Given the description of an element on the screen output the (x, y) to click on. 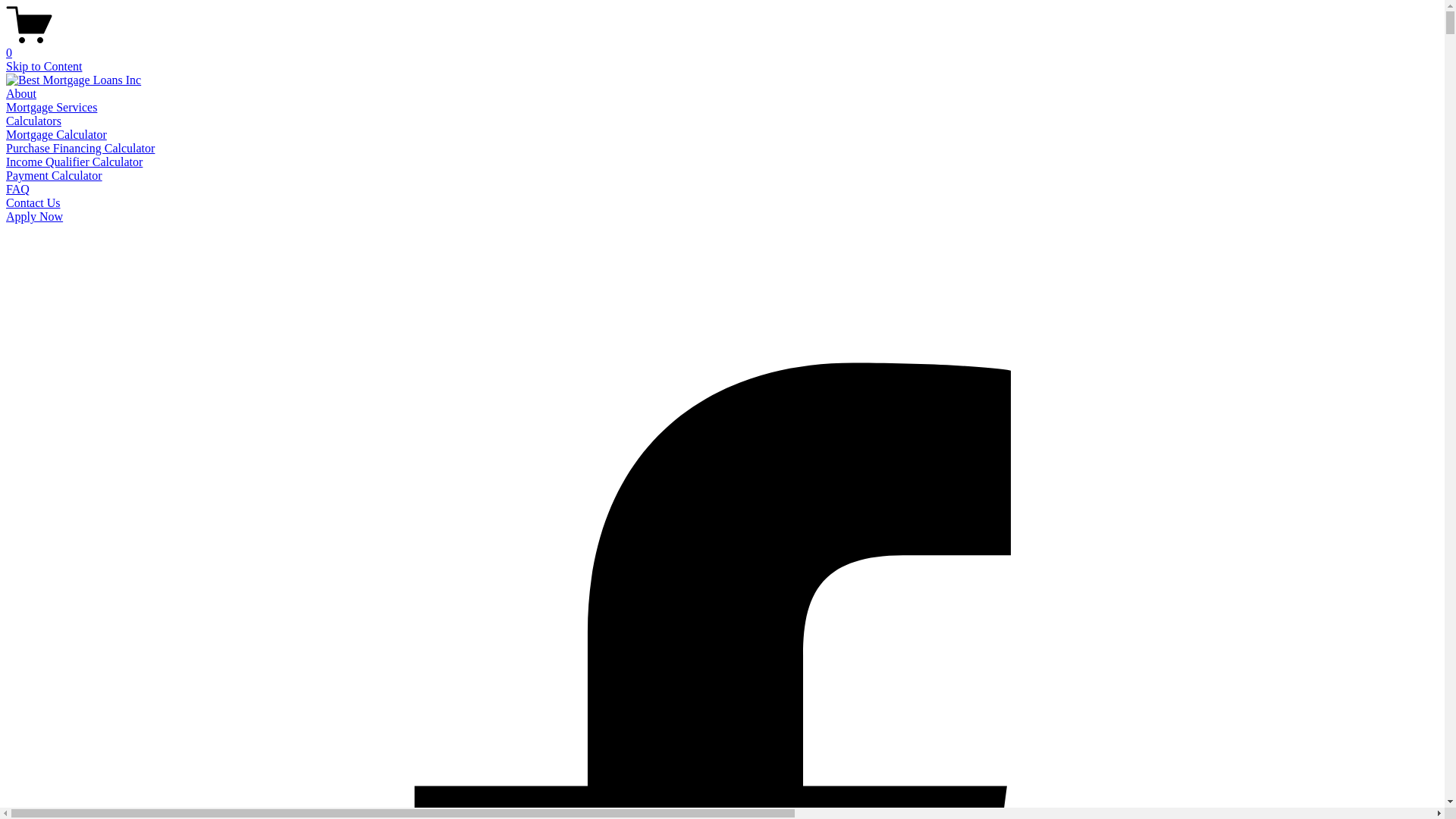
Mortgage Services Element type: text (51, 106)
Income Qualifier Calculator Element type: text (74, 161)
Purchase Financing Calculator Element type: text (80, 147)
Calculators Element type: text (33, 120)
Apply Now Element type: text (34, 216)
About Element type: text (21, 93)
FAQ Element type: text (17, 188)
Contact Us Element type: text (33, 202)
Payment Calculator Element type: text (54, 175)
Mortgage Calculator Element type: text (56, 134)
Skip to Content Element type: text (43, 65)
0 Element type: text (722, 45)
